Given the description of an element on the screen output the (x, y) to click on. 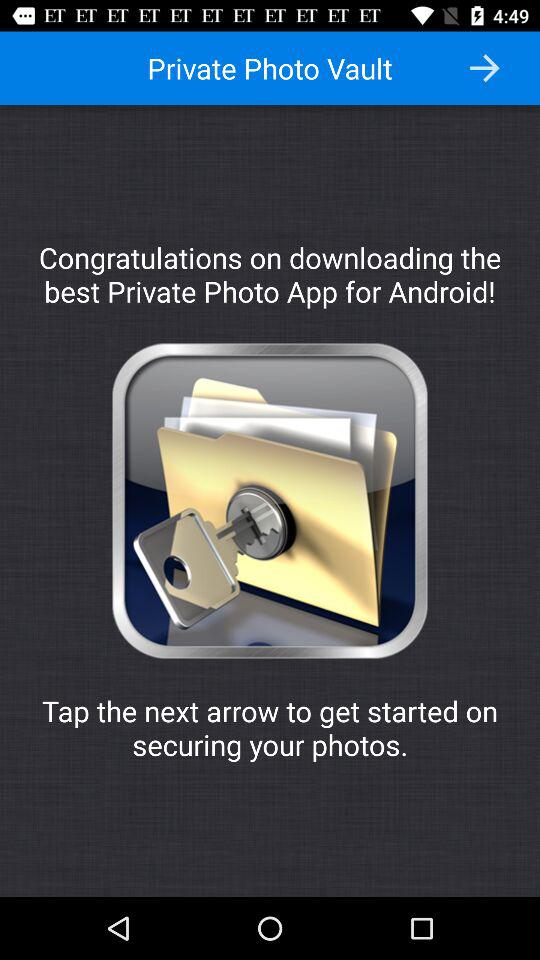
go forward (484, 68)
